Given the description of an element on the screen output the (x, y) to click on. 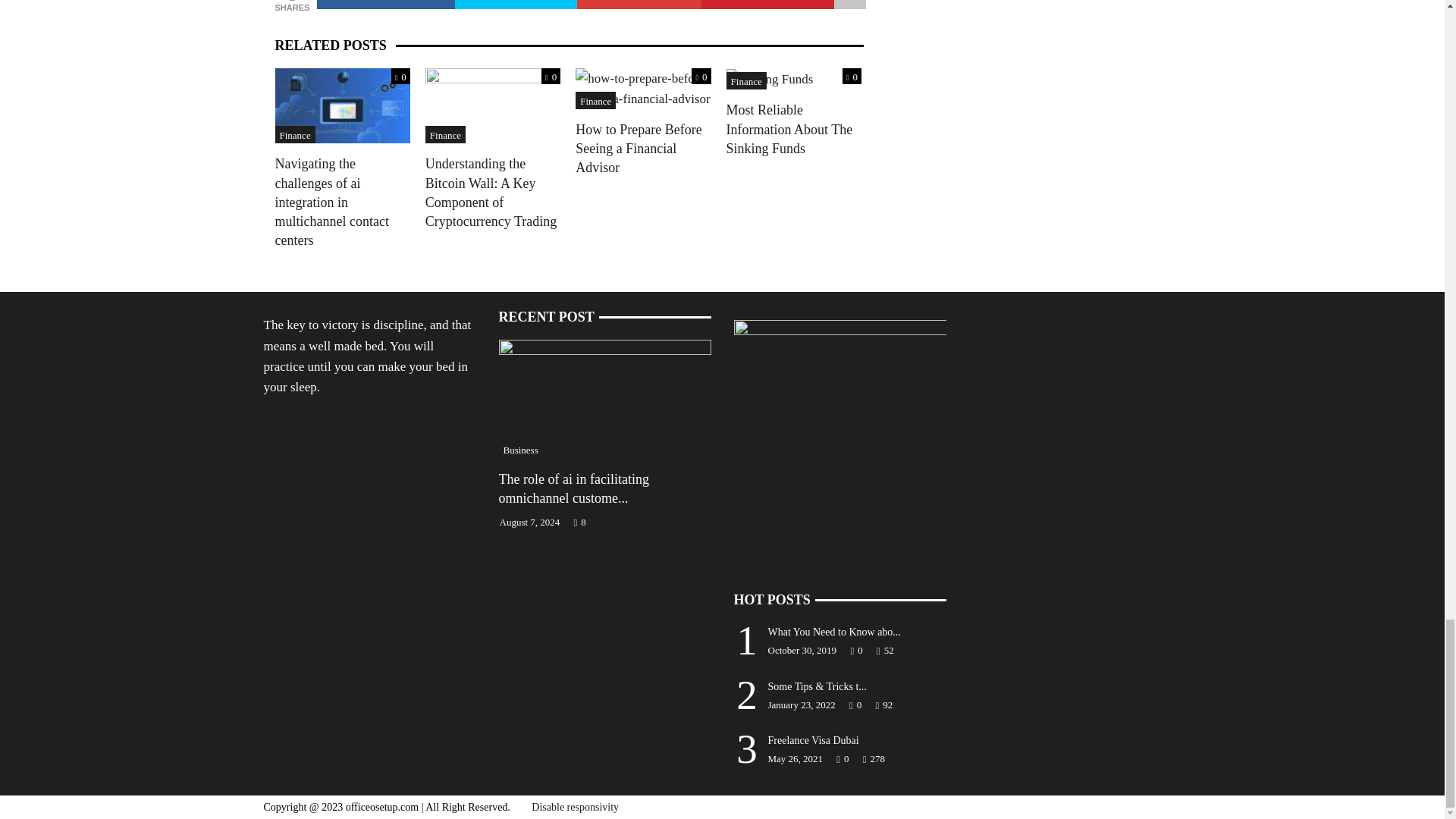
The role of ai in facilitating omnichannel customer support (605, 397)
Most Reliable Information About The Sinking Funds (769, 78)
How to Prepare Before Seeing a Financial Advisor (642, 87)
